Given the description of an element on the screen output the (x, y) to click on. 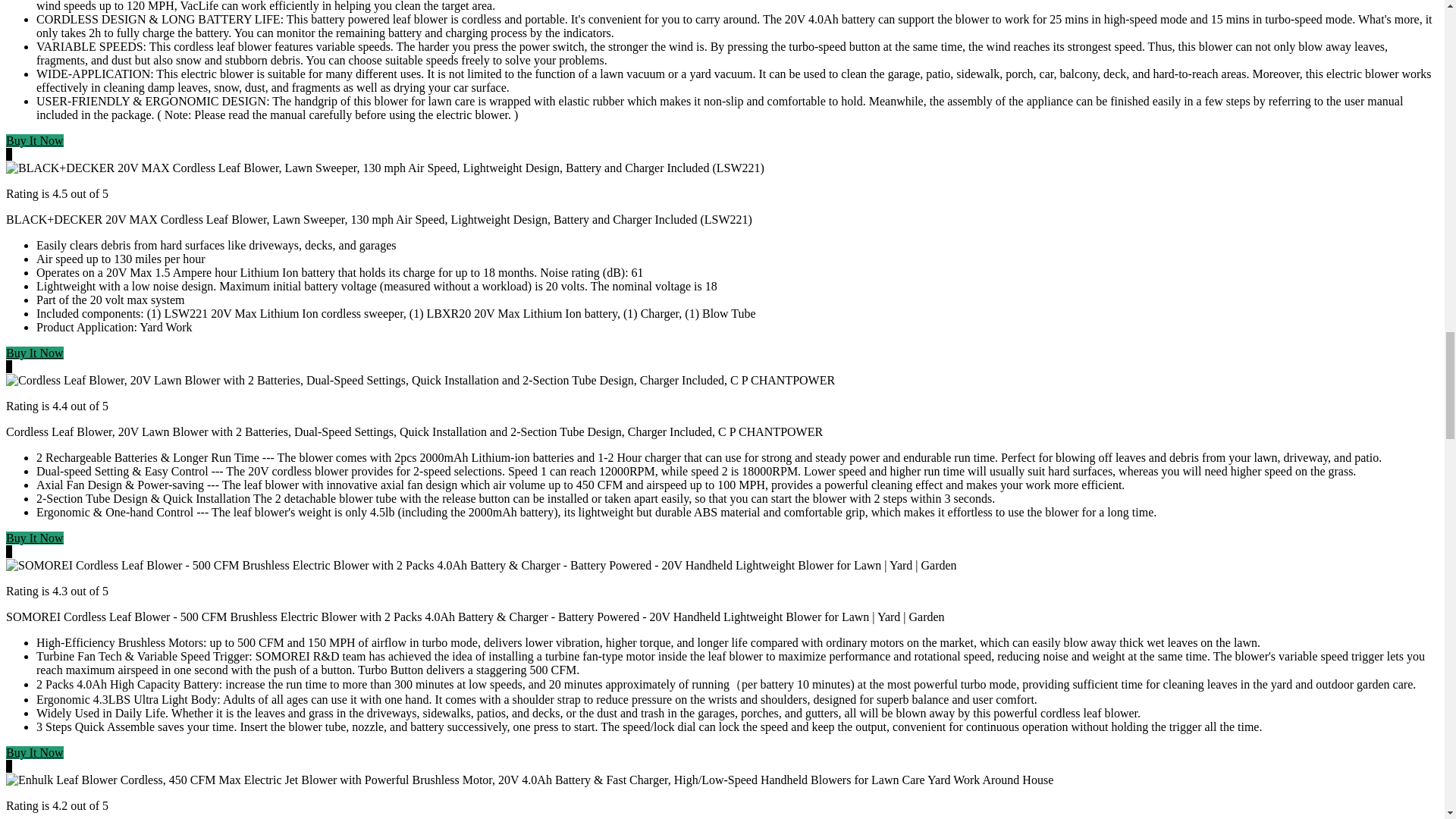
Buy It Now (34, 140)
Buy It Now (34, 352)
